Given the description of an element on the screen output the (x, y) to click on. 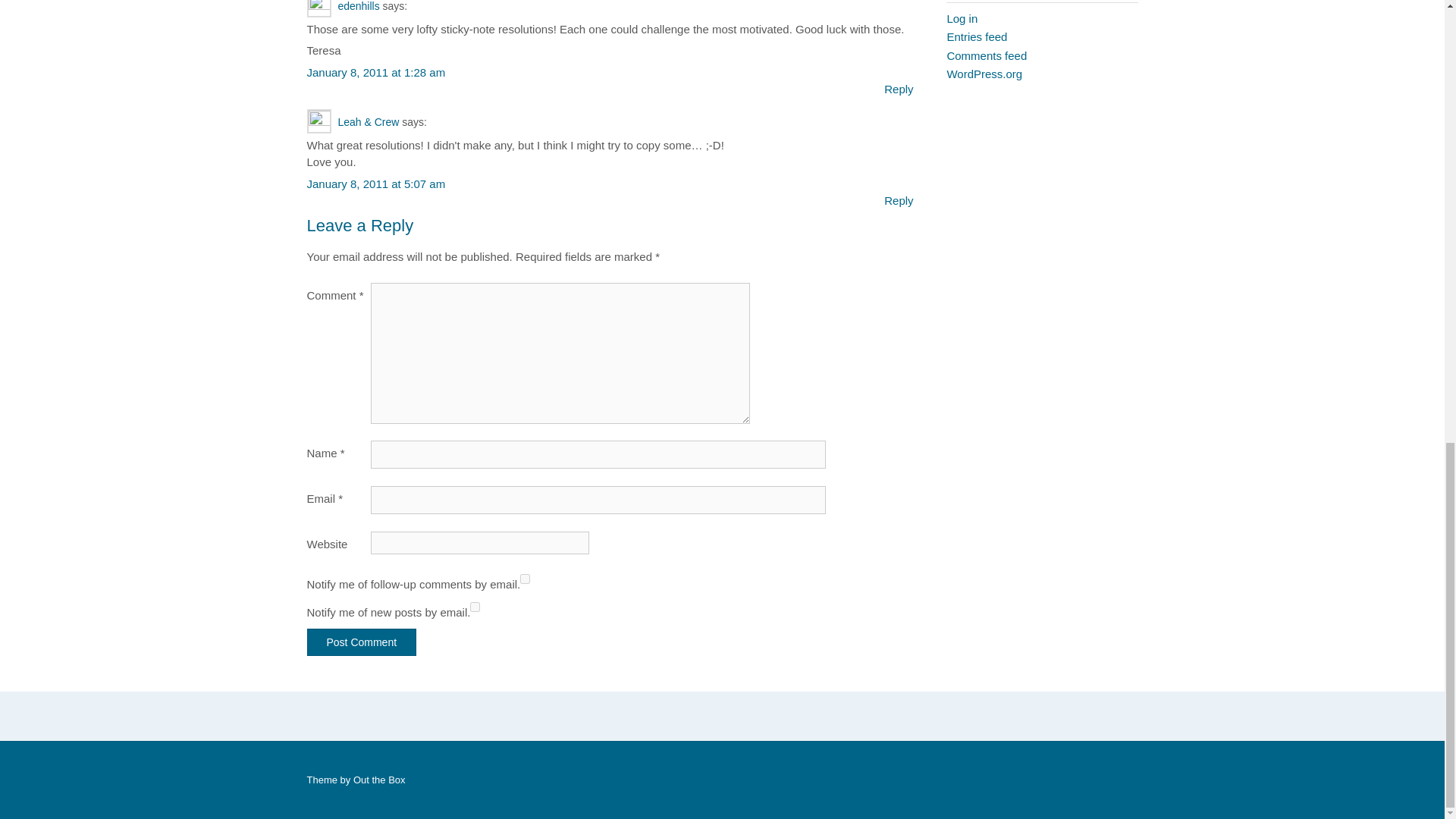
subscribe (524, 578)
Reply (897, 200)
Post Comment (360, 642)
edenhills (357, 6)
subscribe (475, 606)
Post Comment (360, 642)
January 8, 2011 at 5:07 am (375, 183)
Reply (897, 88)
January 8, 2011 at 1:28 am (375, 72)
